Given the description of an element on the screen output the (x, y) to click on. 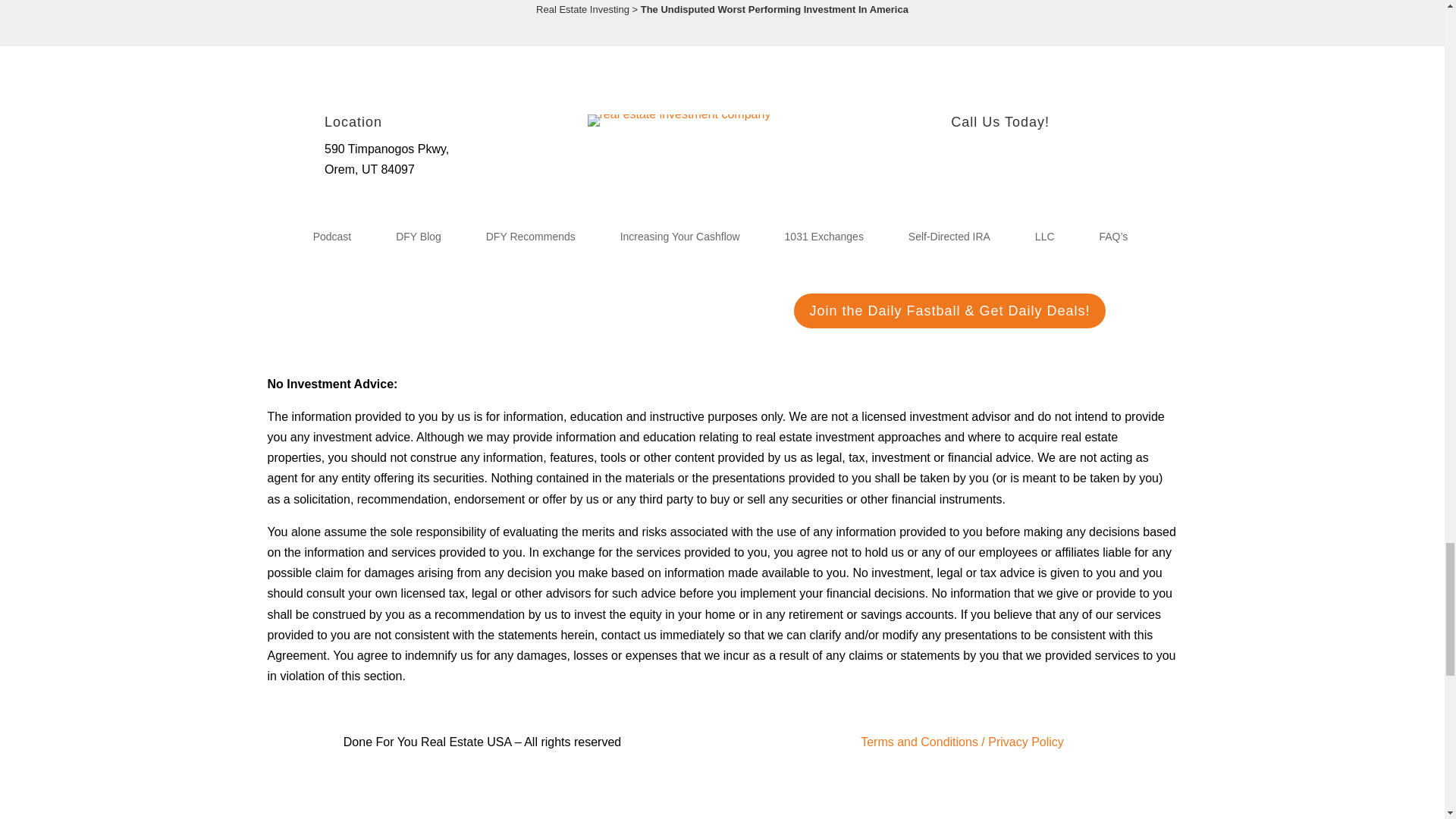
Self-Directed IRA (949, 239)
Increasing Your Cashflow (679, 239)
DFY Recommends (530, 239)
801-204-9061 (988, 148)
DFY Blog (418, 239)
1031 Exchanges (823, 239)
Podcast (332, 239)
LLC (1044, 239)
Real Estate Investing (581, 9)
